Given the description of an element on the screen output the (x, y) to click on. 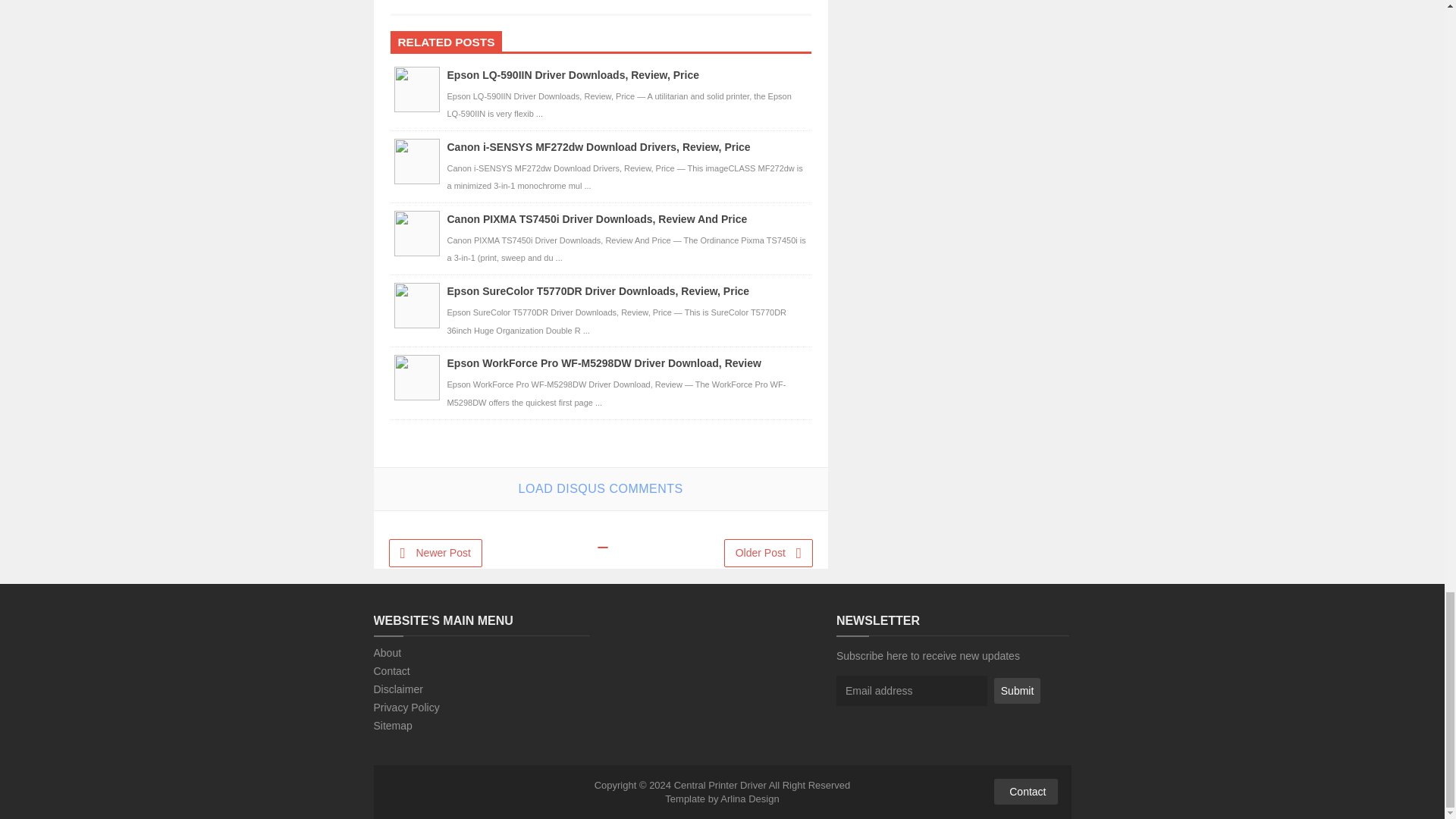
Epson LQ-590IIN Driver Downloads, Review, Price (572, 74)
Email address (911, 690)
Submit (1017, 690)
